Given the description of an element on the screen output the (x, y) to click on. 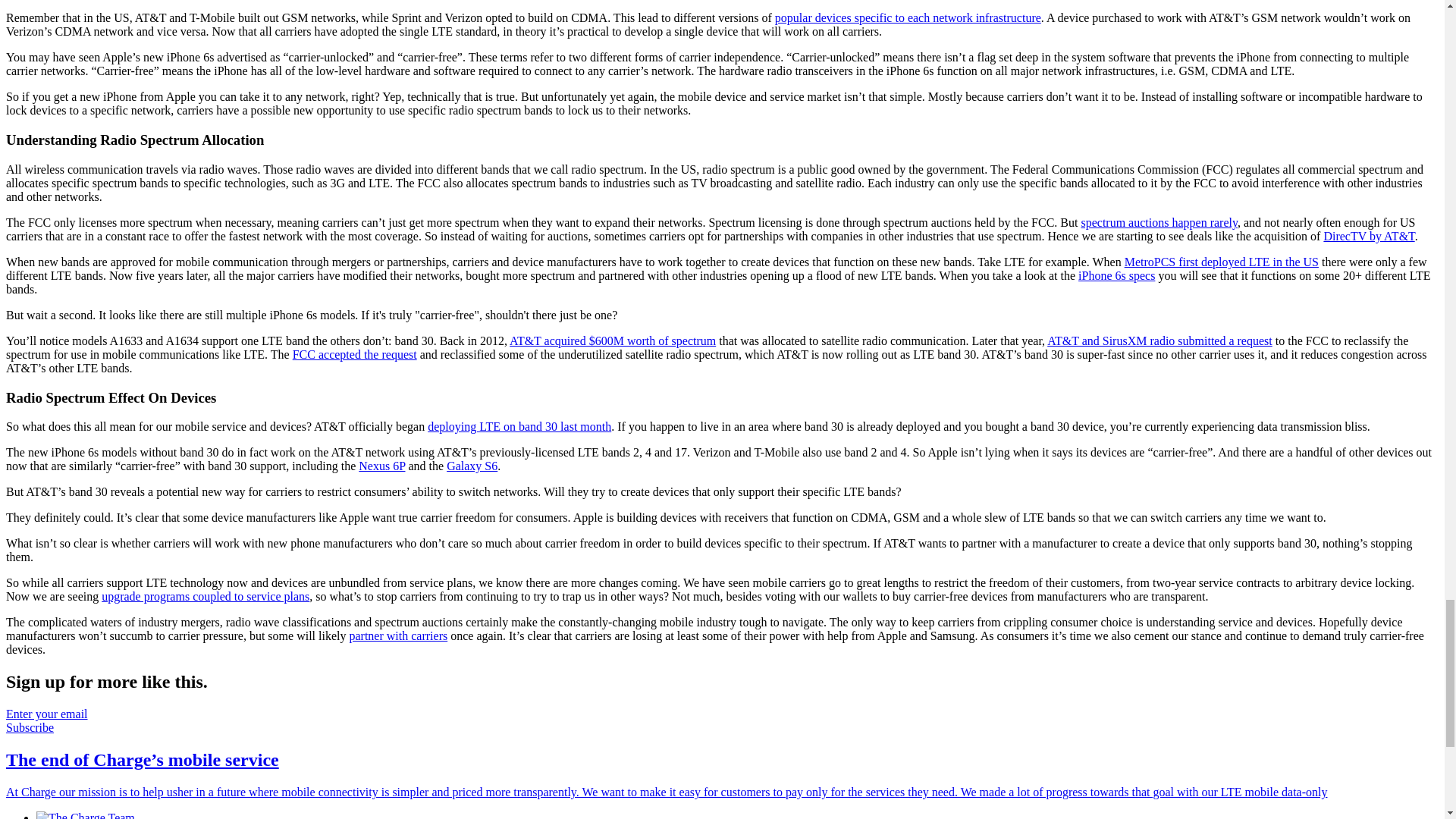
popular devices specific to each network infrastructure (907, 17)
deploying LTE on band 30 last month (519, 426)
partner with carriers (397, 635)
iPhone 6s specs (1116, 275)
spectrum auctions happen rarely (1158, 222)
FCC accepted the request (354, 354)
upgrade programs coupled to service plans (204, 595)
MetroPCS first deployed LTE in the US (1221, 261)
Nexus 6P (381, 465)
Galaxy S6 (471, 465)
